Given the description of an element on the screen output the (x, y) to click on. 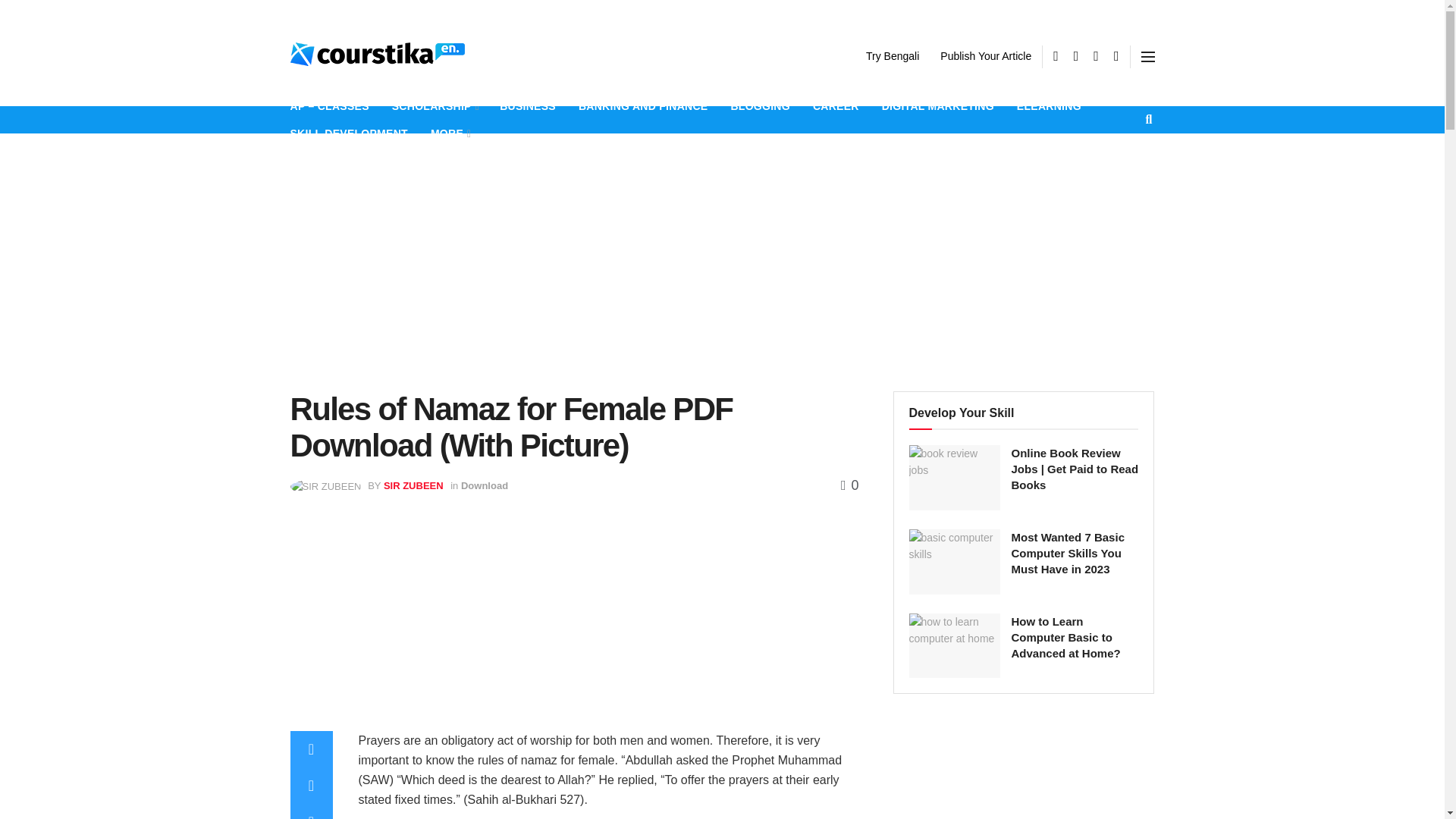
DIGITAL MARKETING (938, 106)
BANKING AND FINANCE (642, 106)
Try Bengali (892, 56)
BUSINESS (527, 106)
Publish Your Article (985, 56)
SCHOLARSHIP (434, 106)
CAREER (835, 106)
SKILL DEVELOPMENT (348, 133)
ELEARNING (1048, 106)
BLOGGING (759, 106)
